Given the description of an element on the screen output the (x, y) to click on. 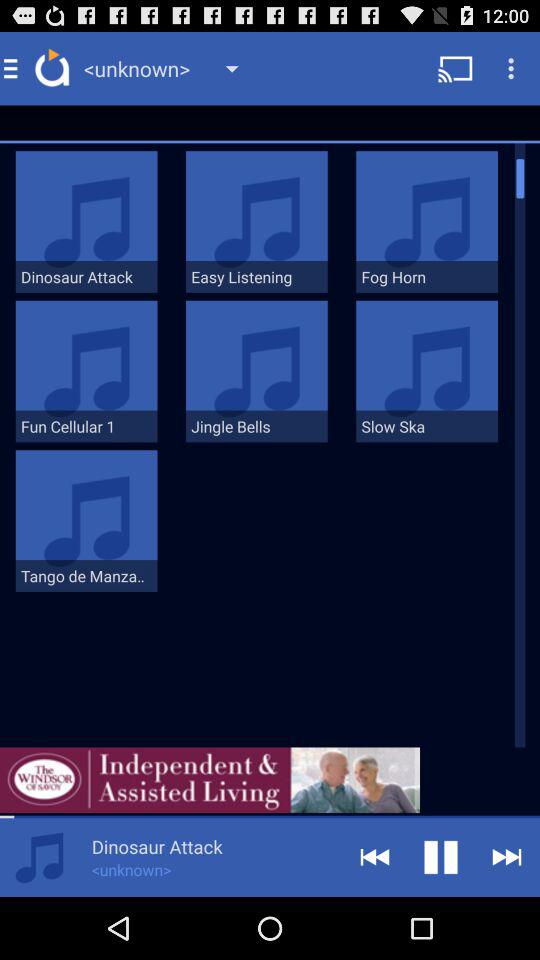
click advertisement (210, 780)
